Given the description of an element on the screen output the (x, y) to click on. 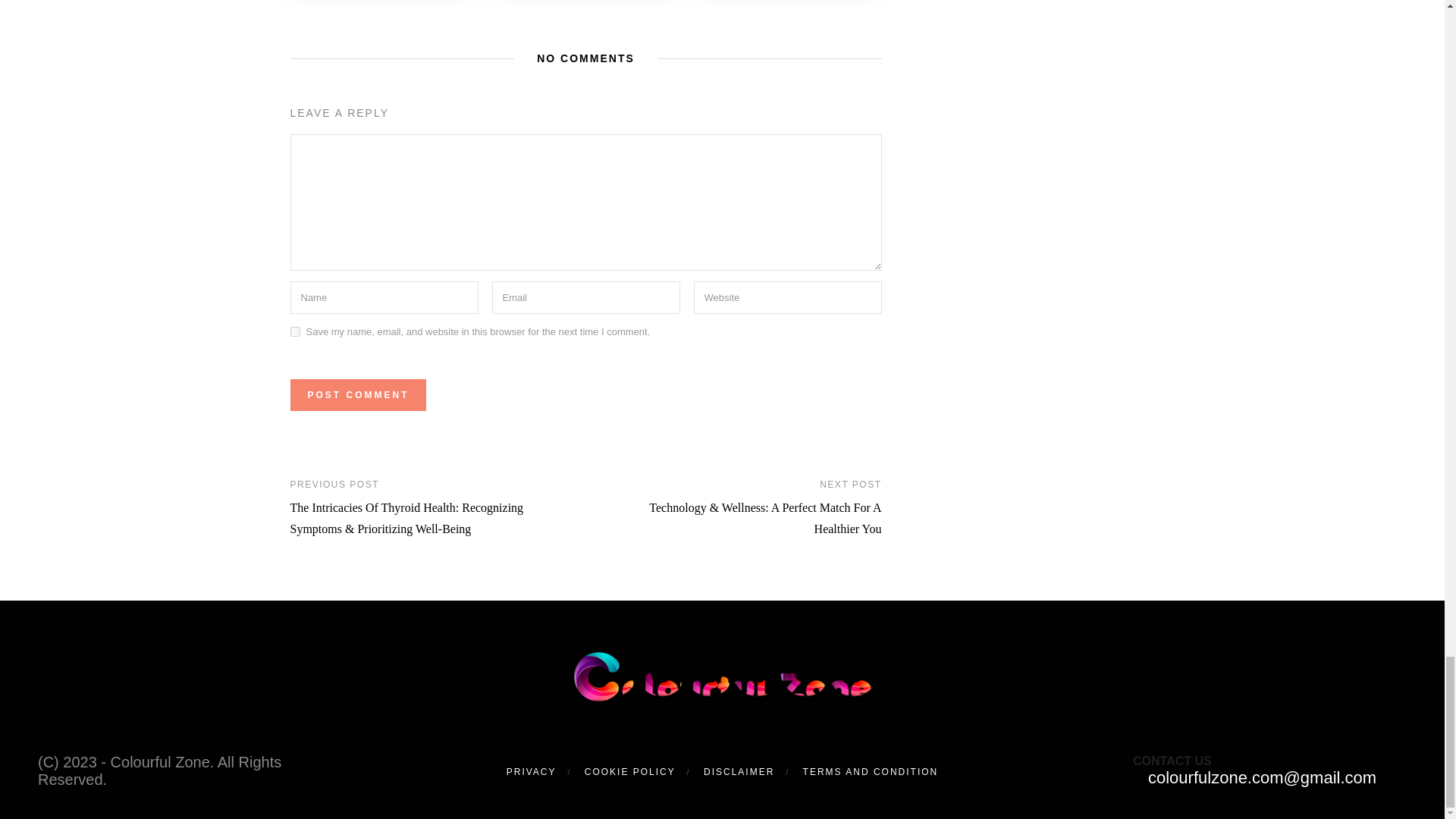
yes (294, 331)
Post Comment (357, 395)
Please wait until Google reCAPTCHA is loaded. (357, 395)
